Given the description of an element on the screen output the (x, y) to click on. 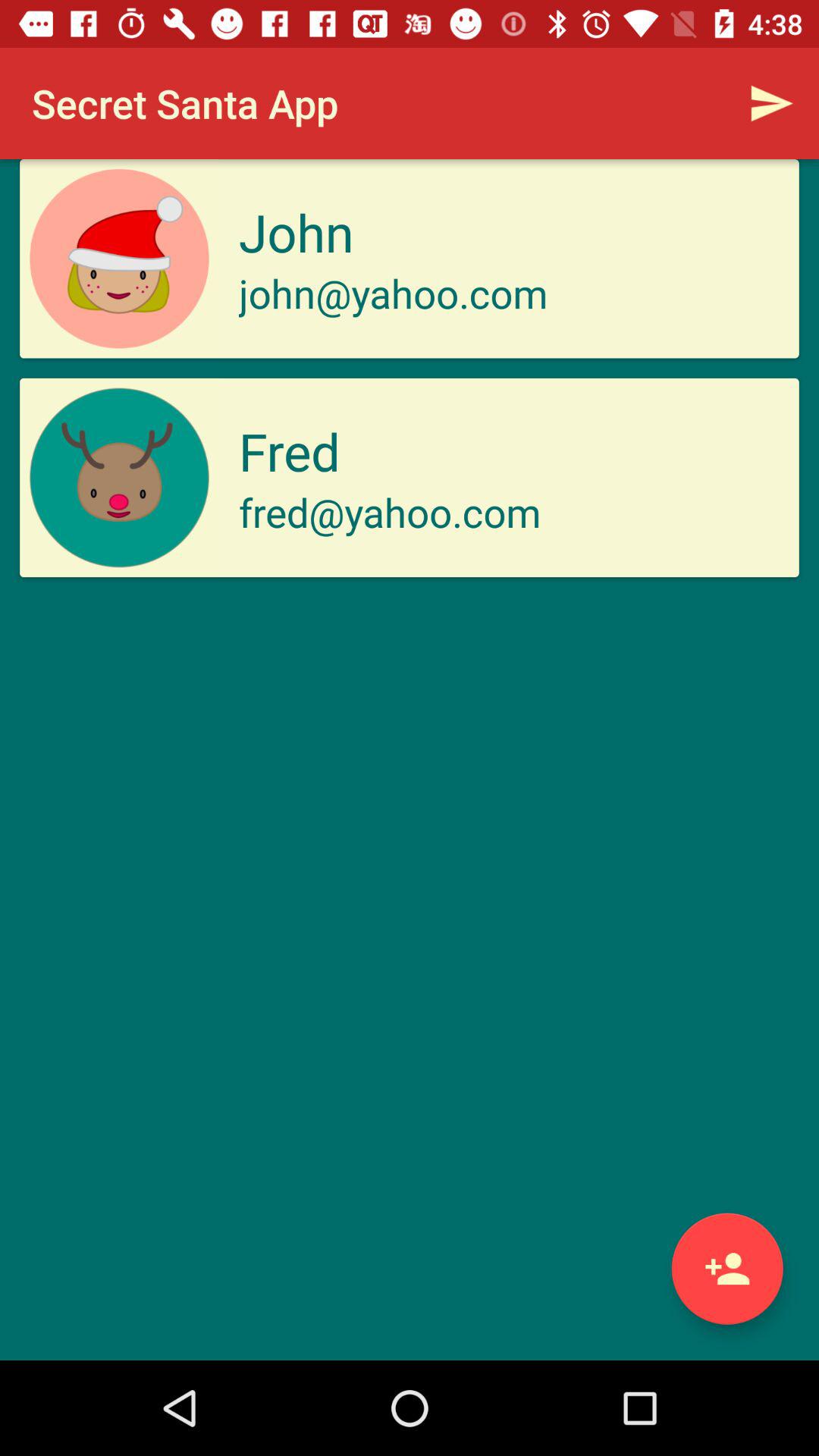
turn off the icon above the john item (771, 103)
